Given the description of an element on the screen output the (x, y) to click on. 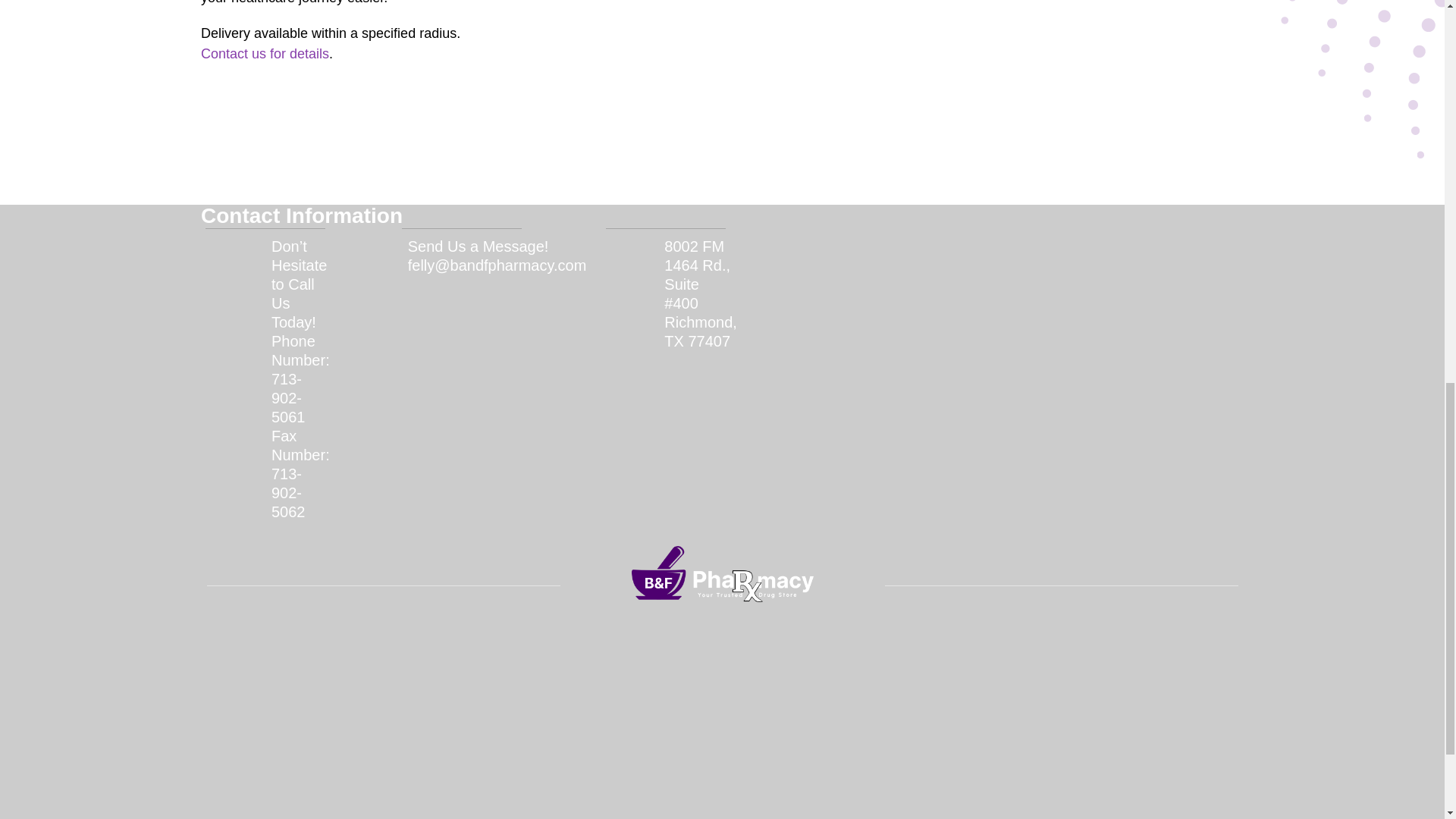
Contact us for details (264, 54)
713-902-5061 (300, 445)
